Given the description of an element on the screen output the (x, y) to click on. 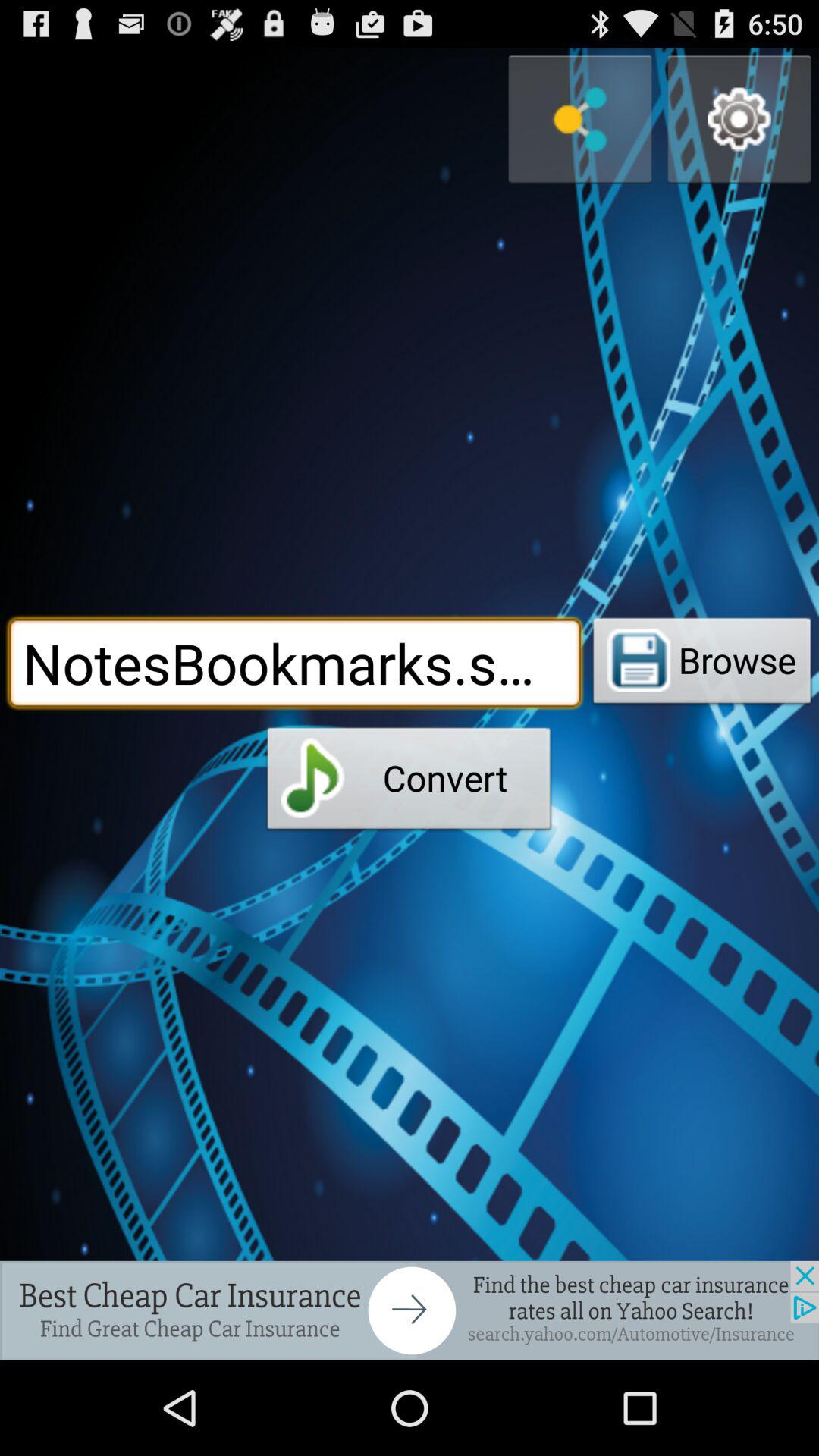
setting option (739, 119)
